Given the description of an element on the screen output the (x, y) to click on. 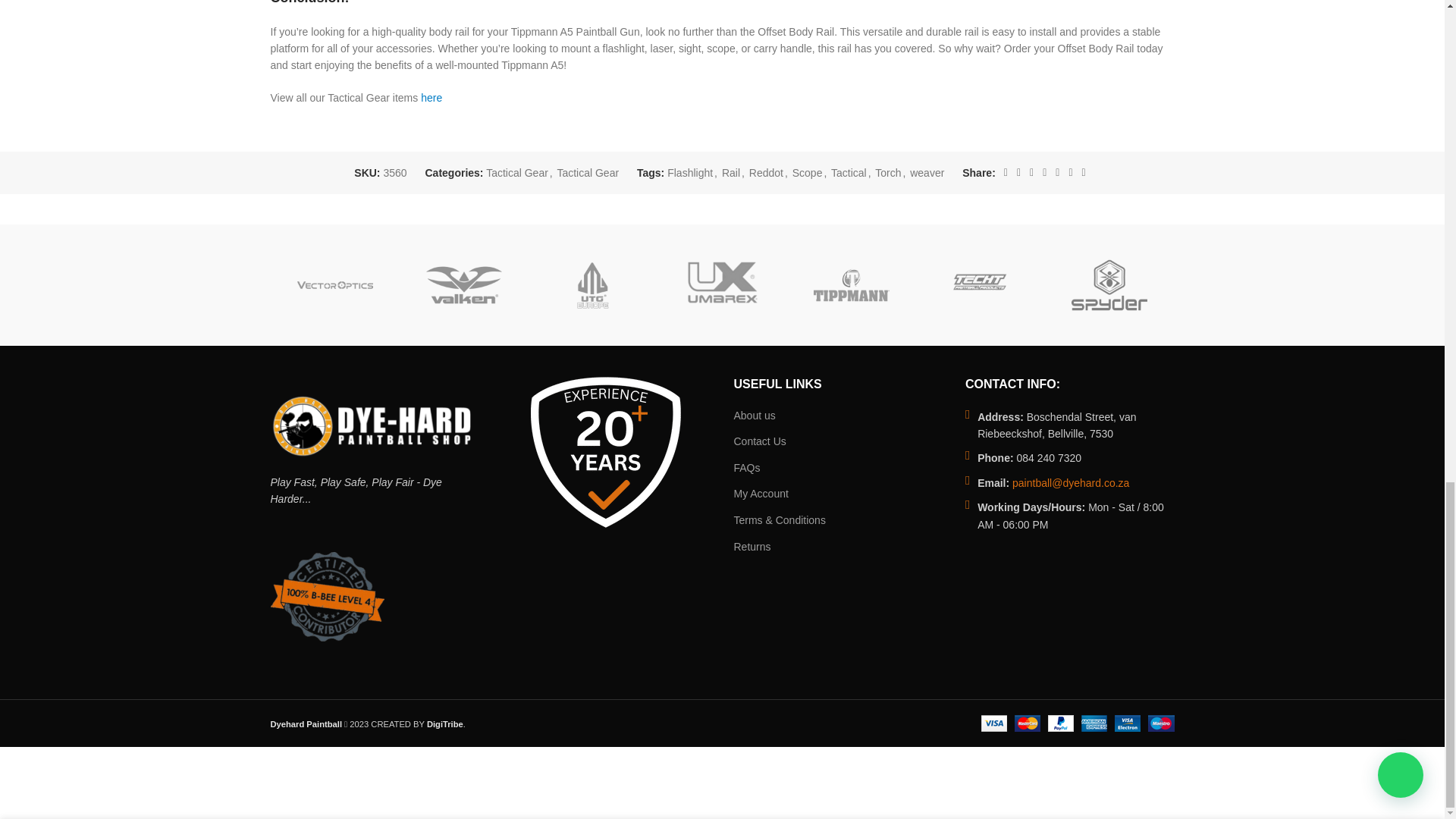
Valken (463, 284)
Vector Optics (333, 284)
